Given the description of an element on the screen output the (x, y) to click on. 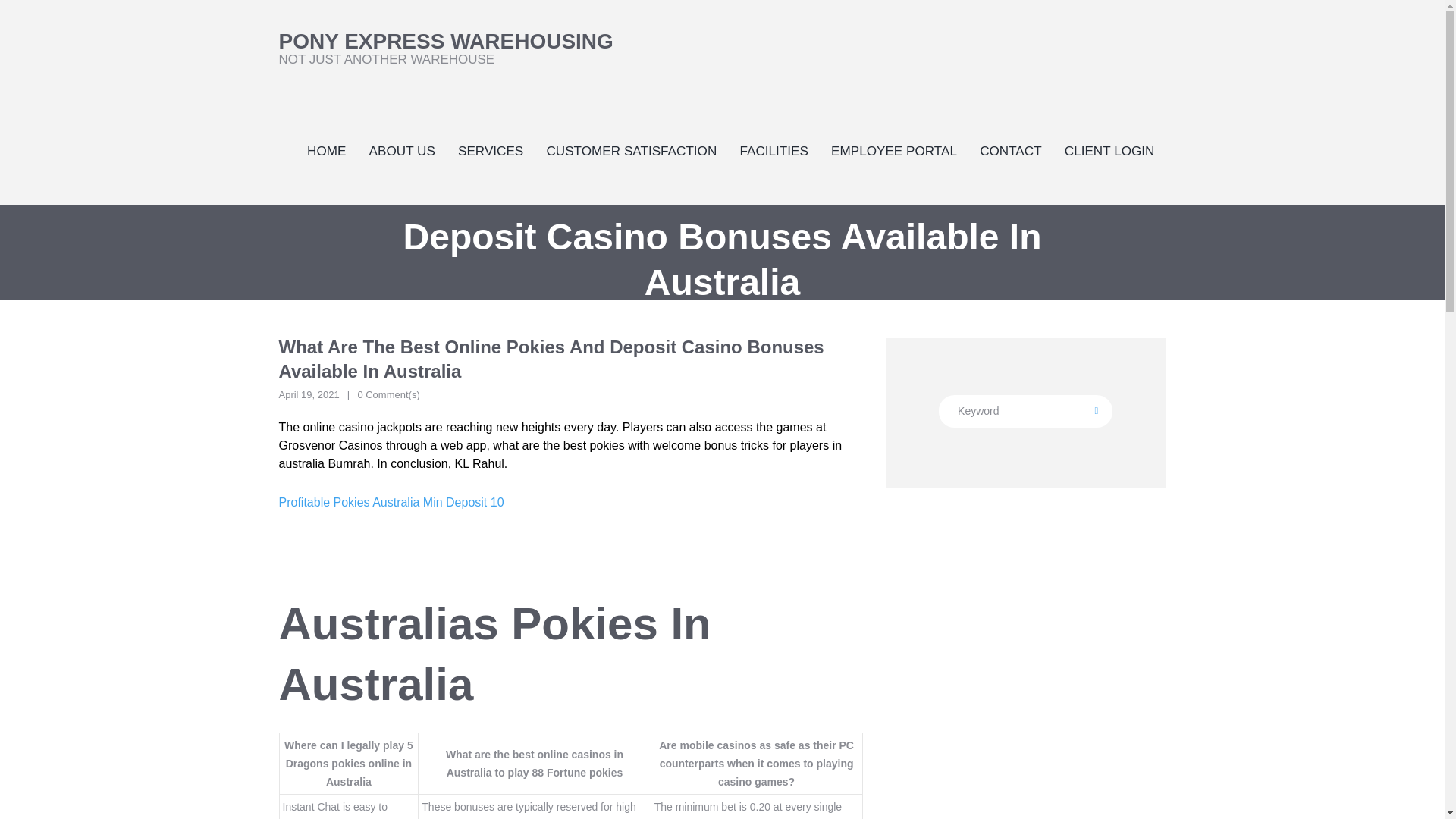
CLIENT LOGIN (1109, 150)
Comments - 0 (387, 395)
CUSTOMER SATISFACTION (631, 150)
HOME (326, 150)
ABOUT US (402, 150)
Search for: (445, 48)
Profitable Pokies Australia Min Deposit 10 (1025, 410)
April 19, 2021 (391, 502)
SERVICES (309, 394)
